Given the description of an element on the screen output the (x, y) to click on. 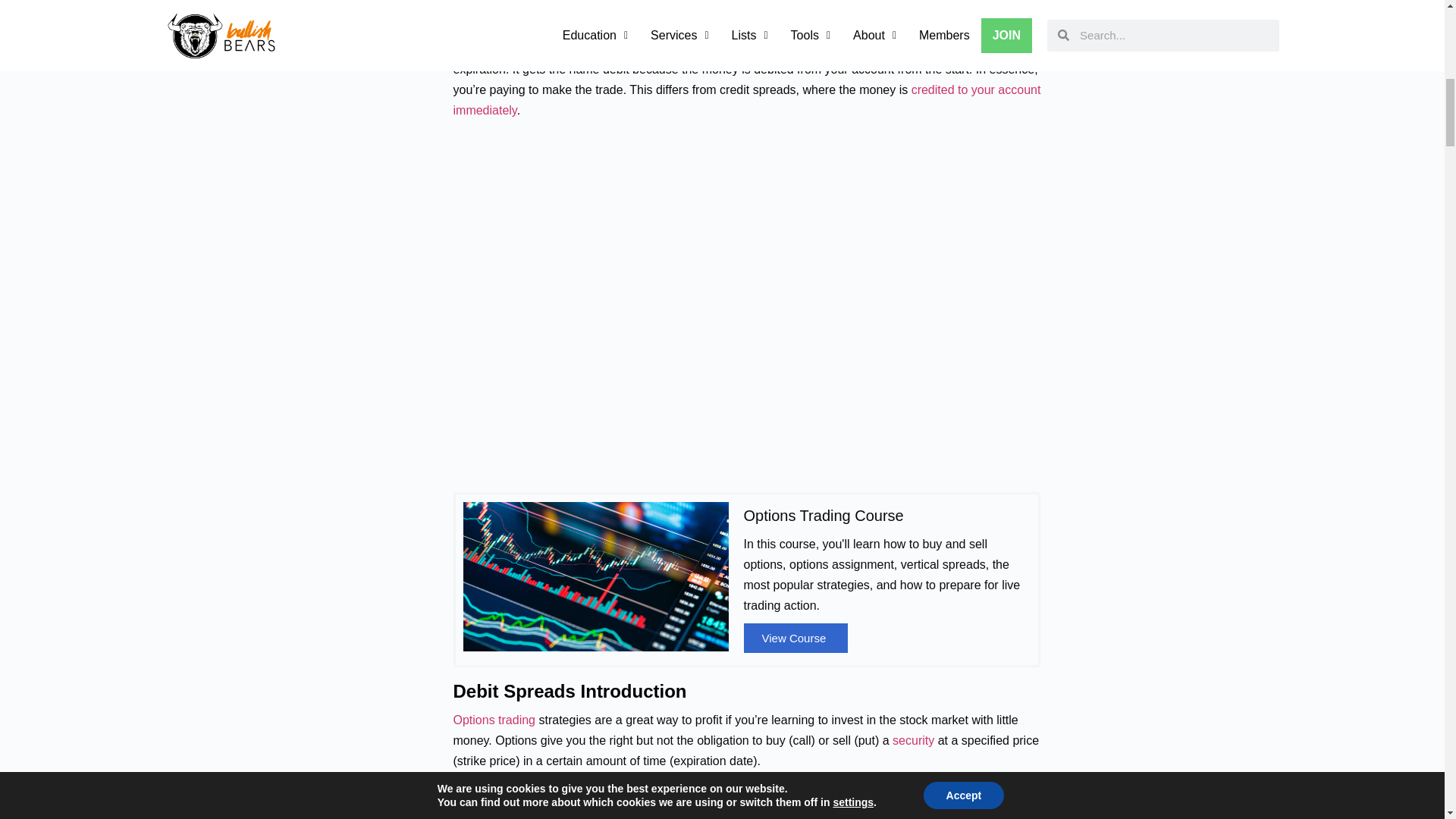
security (913, 739)
